Given the description of an element on the screen output the (x, y) to click on. 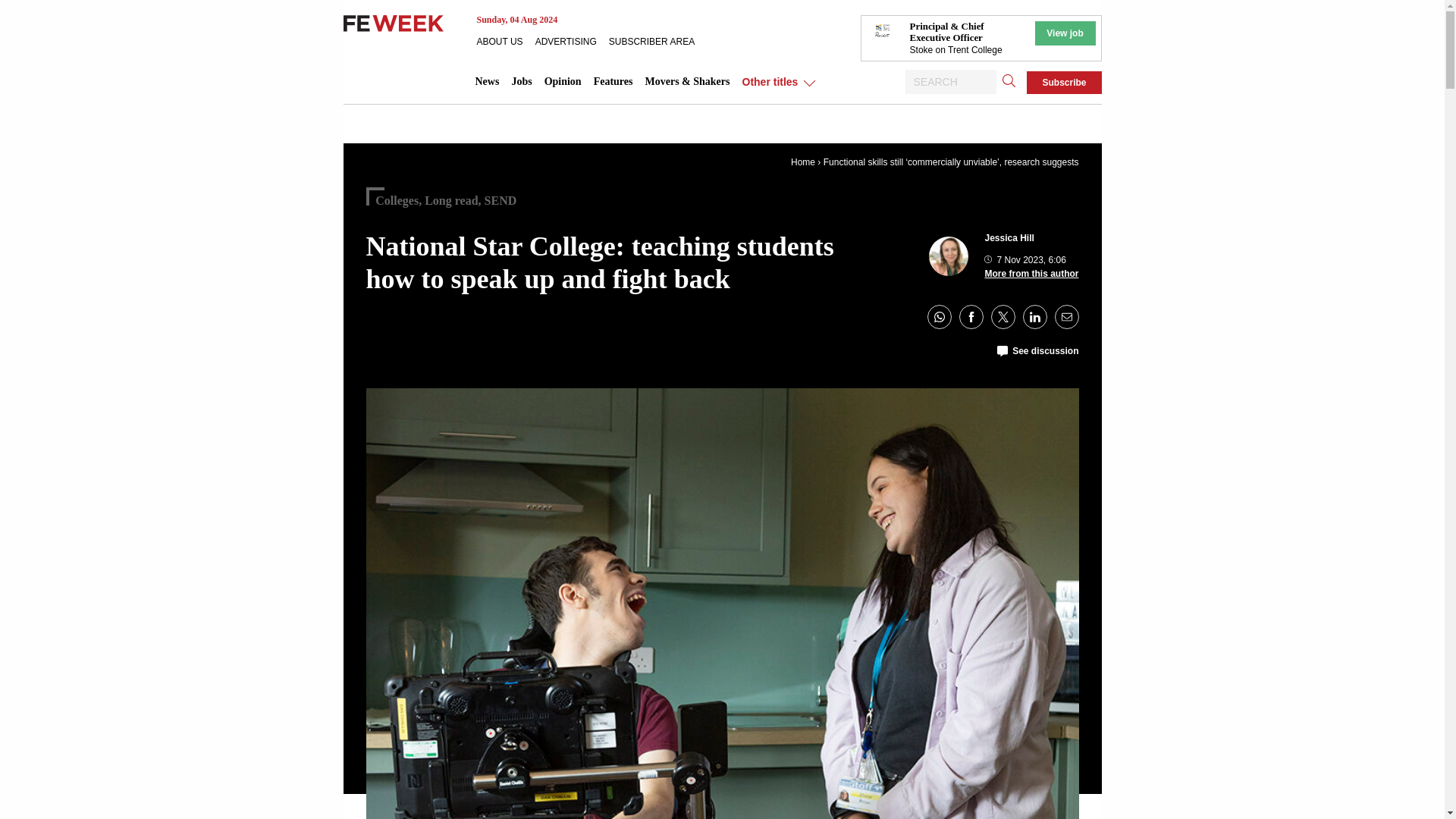
Posts by Jessica Hill (1008, 237)
SUBSCRIBER AREA (657, 41)
ADVERTISING (571, 41)
View job (1063, 33)
ABOUT US (505, 41)
Home (802, 162)
News (486, 81)
